Given the description of an element on the screen output the (x, y) to click on. 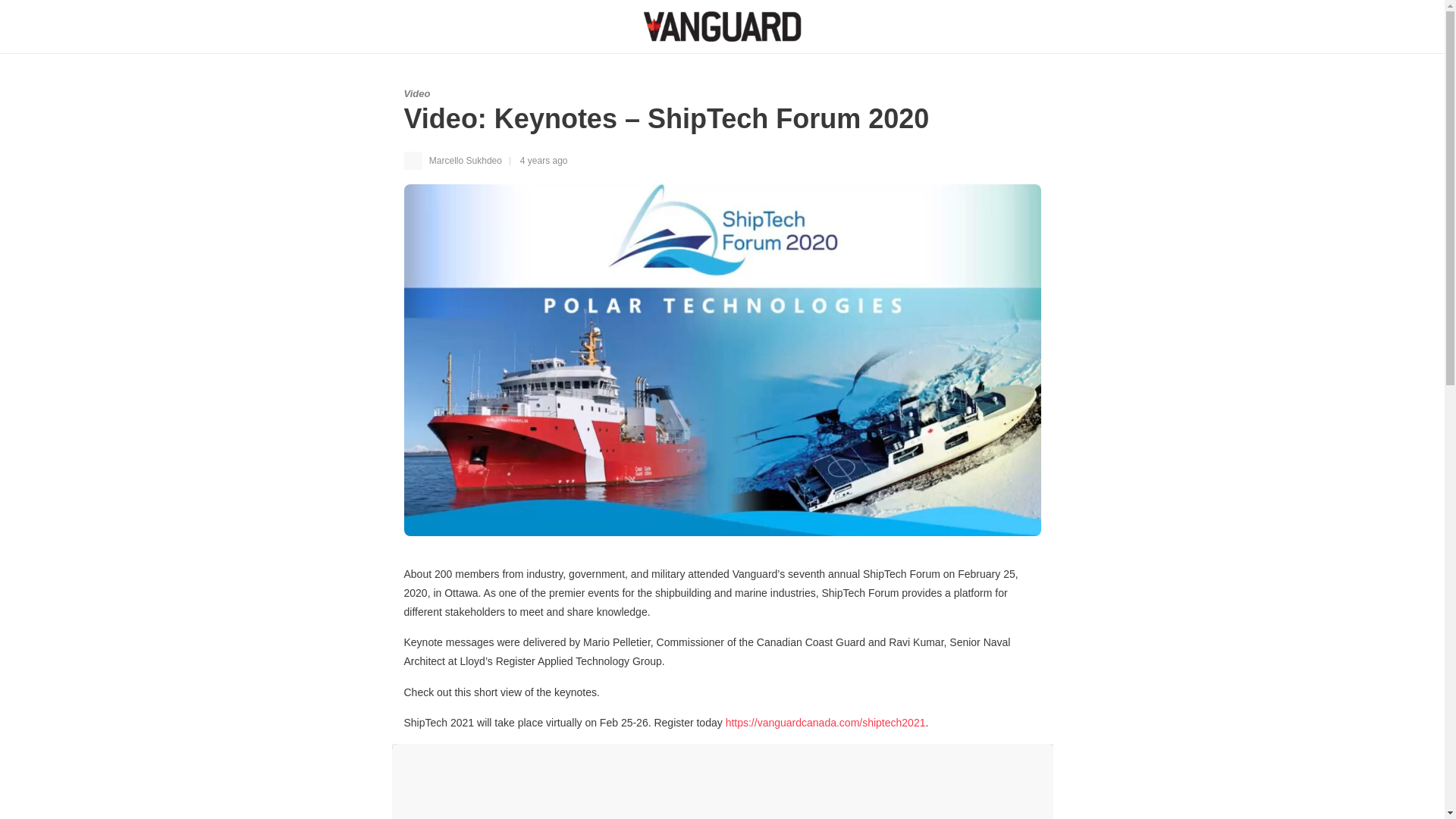
Video (416, 93)
Keynotes - ShipTech Forum 2020 (721, 781)
